Given the description of an element on the screen output the (x, y) to click on. 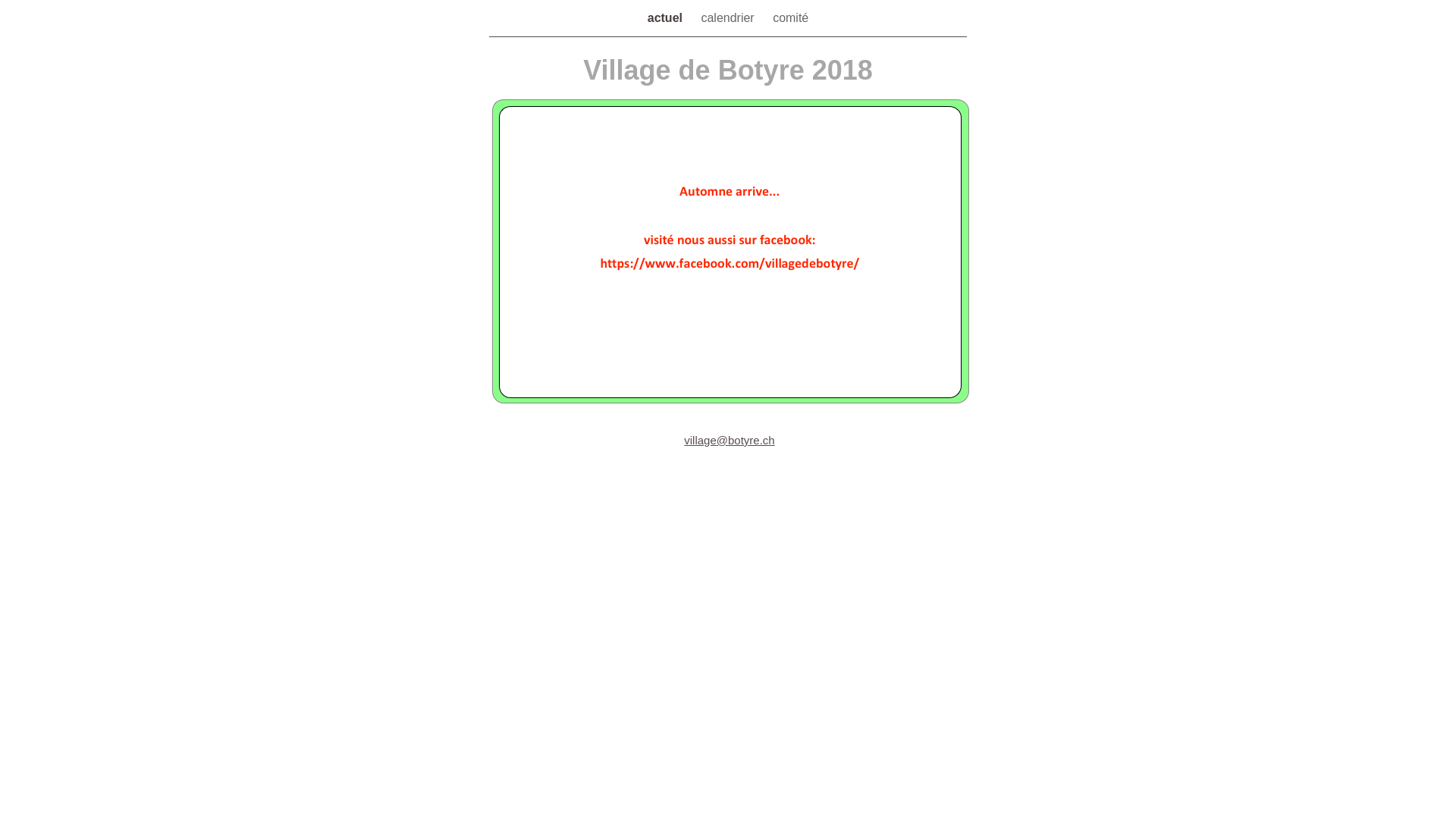
calendrier Element type: text (728, 17)
village@botyre.ch Element type: text (729, 439)
actuel Element type: text (666, 17)
